Given the description of an element on the screen output the (x, y) to click on. 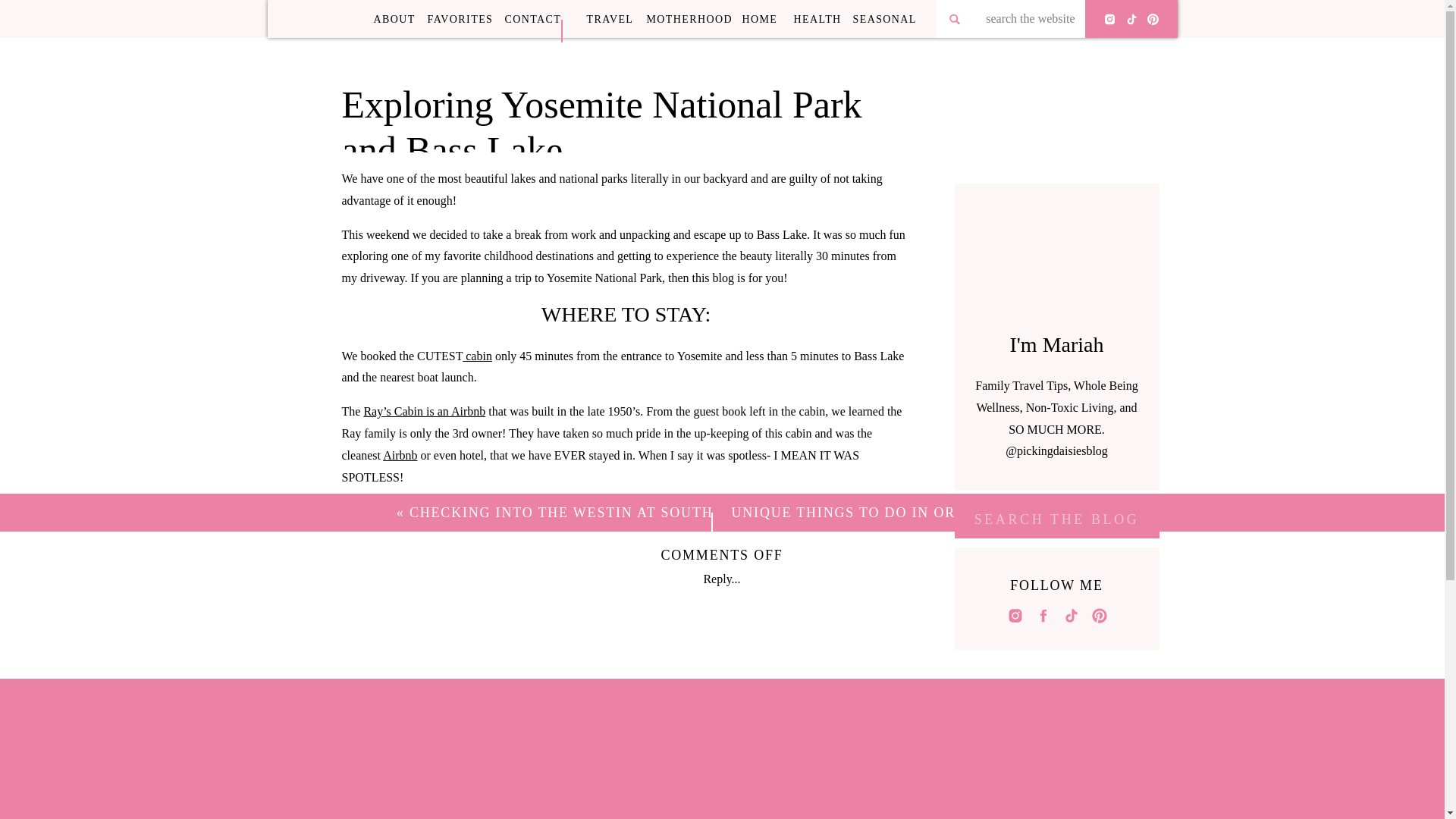
MOTHERHOOD (687, 18)
cabin (376, 589)
HOME (759, 18)
TRAVEL (609, 18)
Cattle 8 Wagyu Beef Burgers! (757, 710)
CONTACT (531, 18)
FAVORITES (460, 18)
Airbnb (399, 454)
ABOUT (392, 18)
cabin (477, 355)
HEALTH (815, 18)
SEASONAL (884, 18)
